Given the description of an element on the screen output the (x, y) to click on. 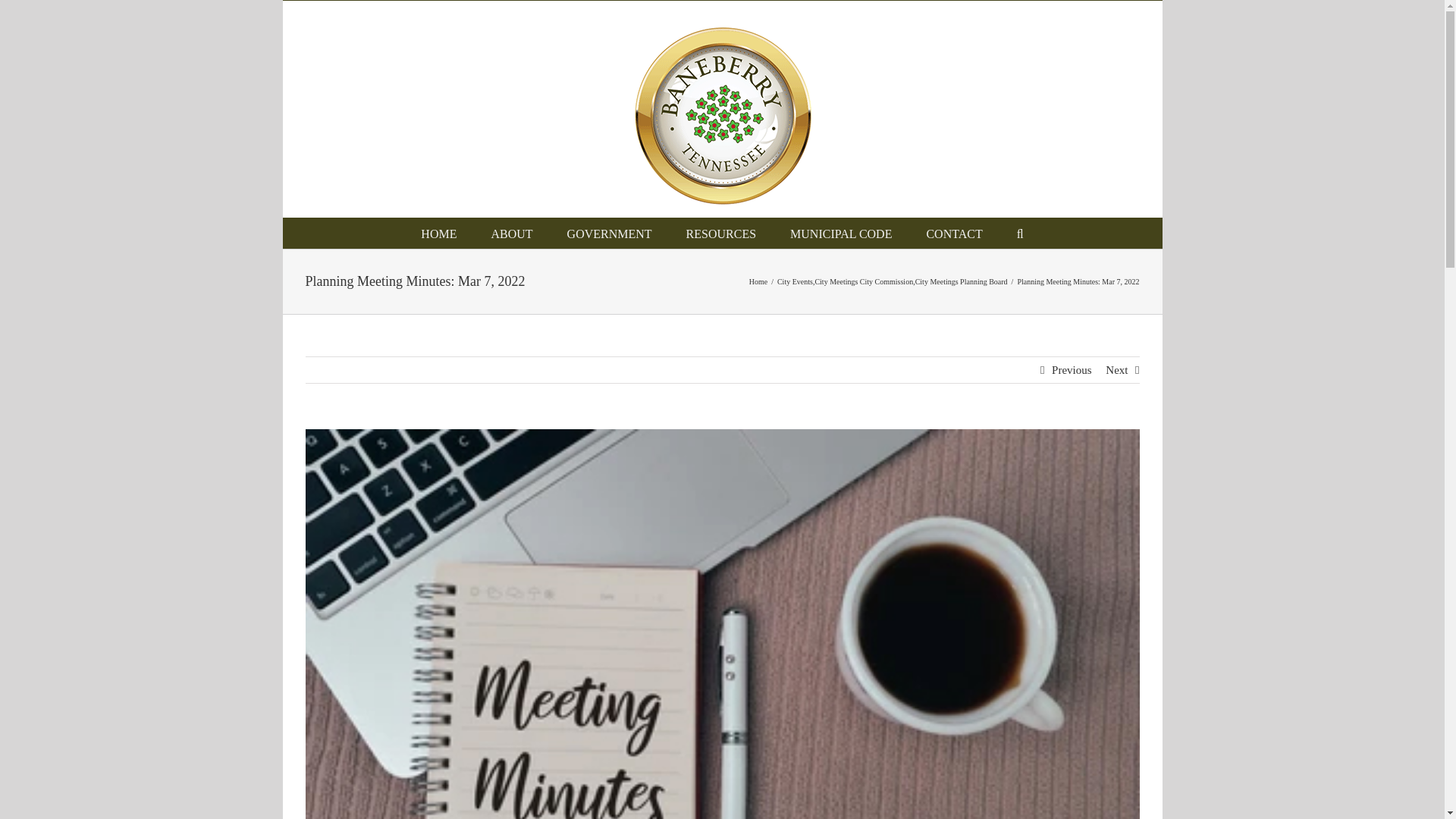
CONTACT (953, 232)
MUNICIPAL CODE (840, 232)
HOME (438, 232)
ABOUT (511, 232)
RESOURCES (720, 232)
GOVERNMENT (609, 232)
